Given the description of an element on the screen output the (x, y) to click on. 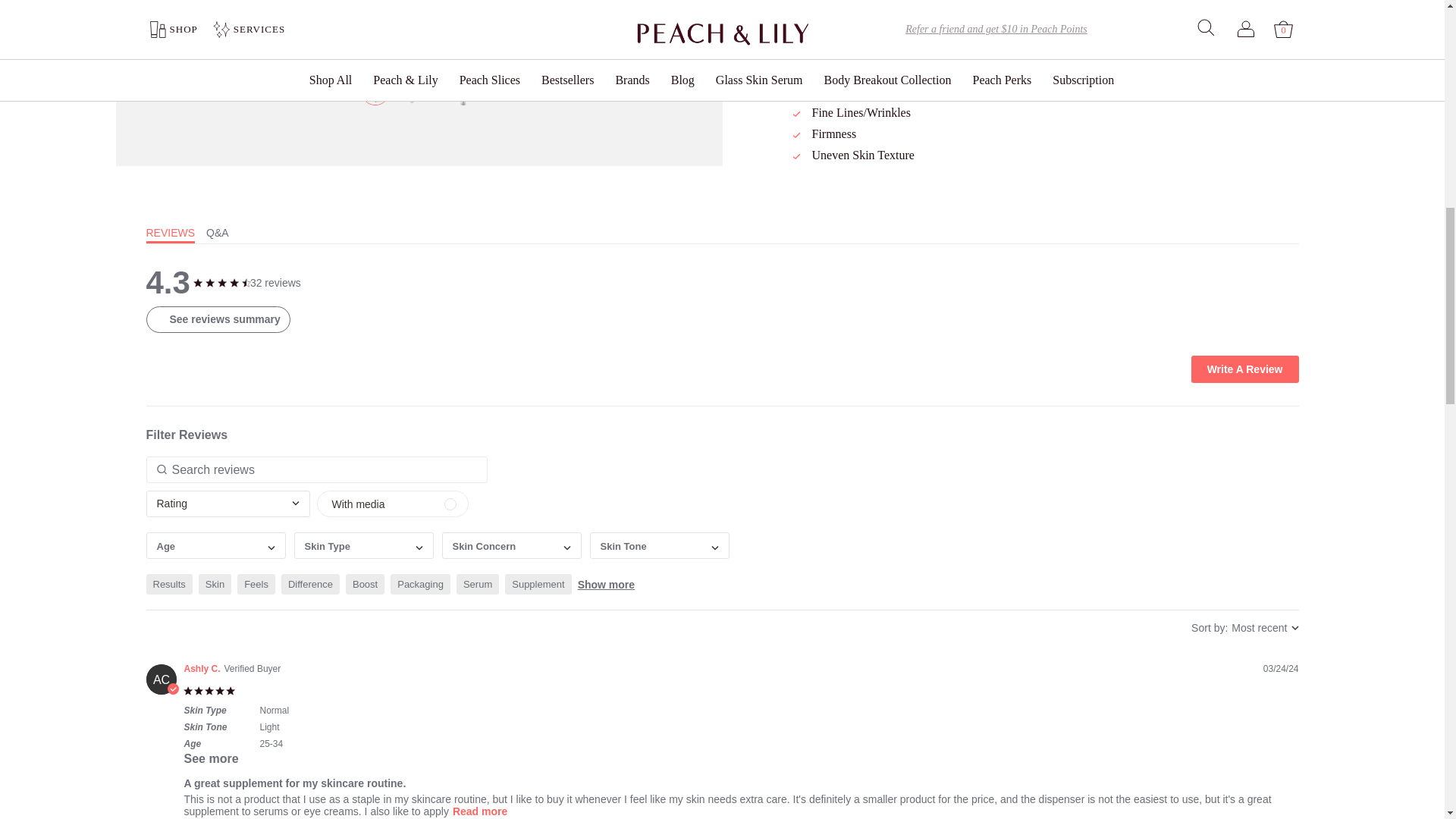
Skin Concern (510, 545)
Read more (479, 811)
Skin Concern (483, 545)
See reviews summary (217, 319)
With media (392, 503)
Skin Type (363, 545)
Write A Review (1244, 369)
Skin Type (327, 545)
Skin Tone (659, 545)
Age (164, 545)
Age (215, 545)
